Given the description of an element on the screen output the (x, y) to click on. 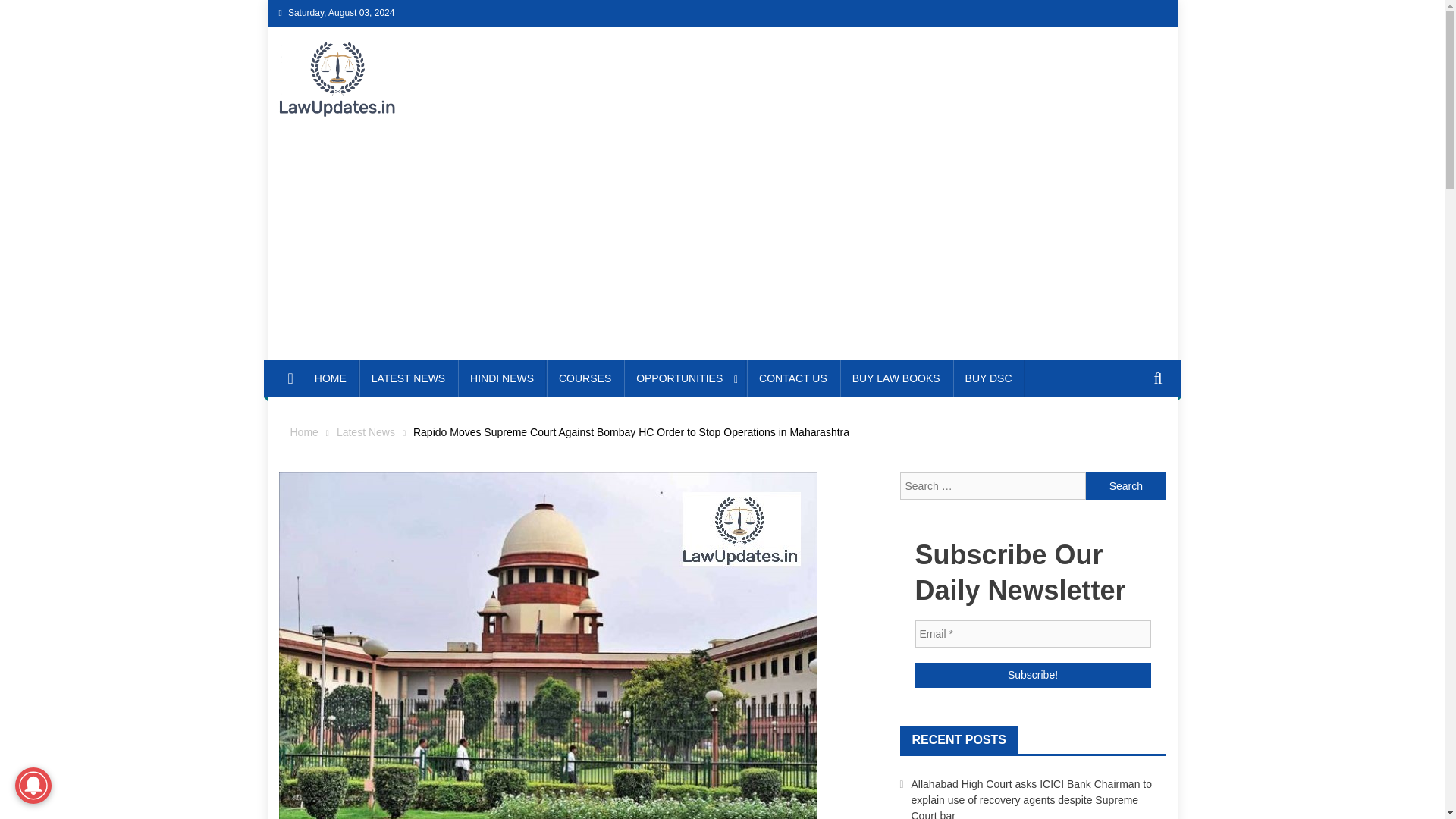
LATEST NEWS (408, 378)
Subscribe! (1032, 674)
COURSES (585, 378)
HOME (330, 378)
BUY DSC (989, 378)
BUY LAW BOOKS (896, 378)
Email (1032, 633)
CONTACT US (793, 378)
Search (1126, 485)
Latest News (365, 431)
Home (303, 431)
Search (1133, 433)
Search (1126, 485)
